Given the description of an element on the screen output the (x, y) to click on. 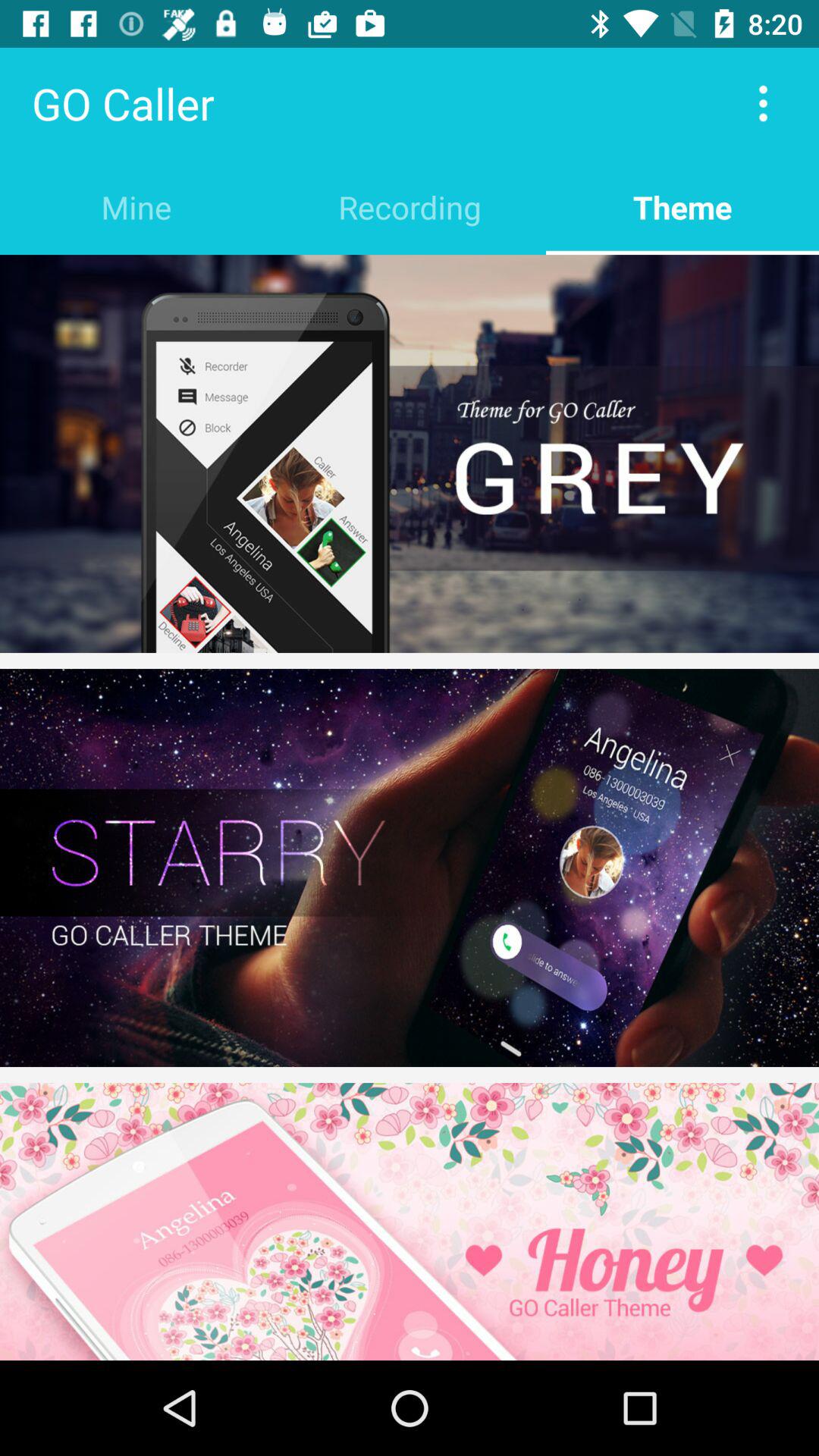
more details option (763, 103)
